Given the description of an element on the screen output the (x, y) to click on. 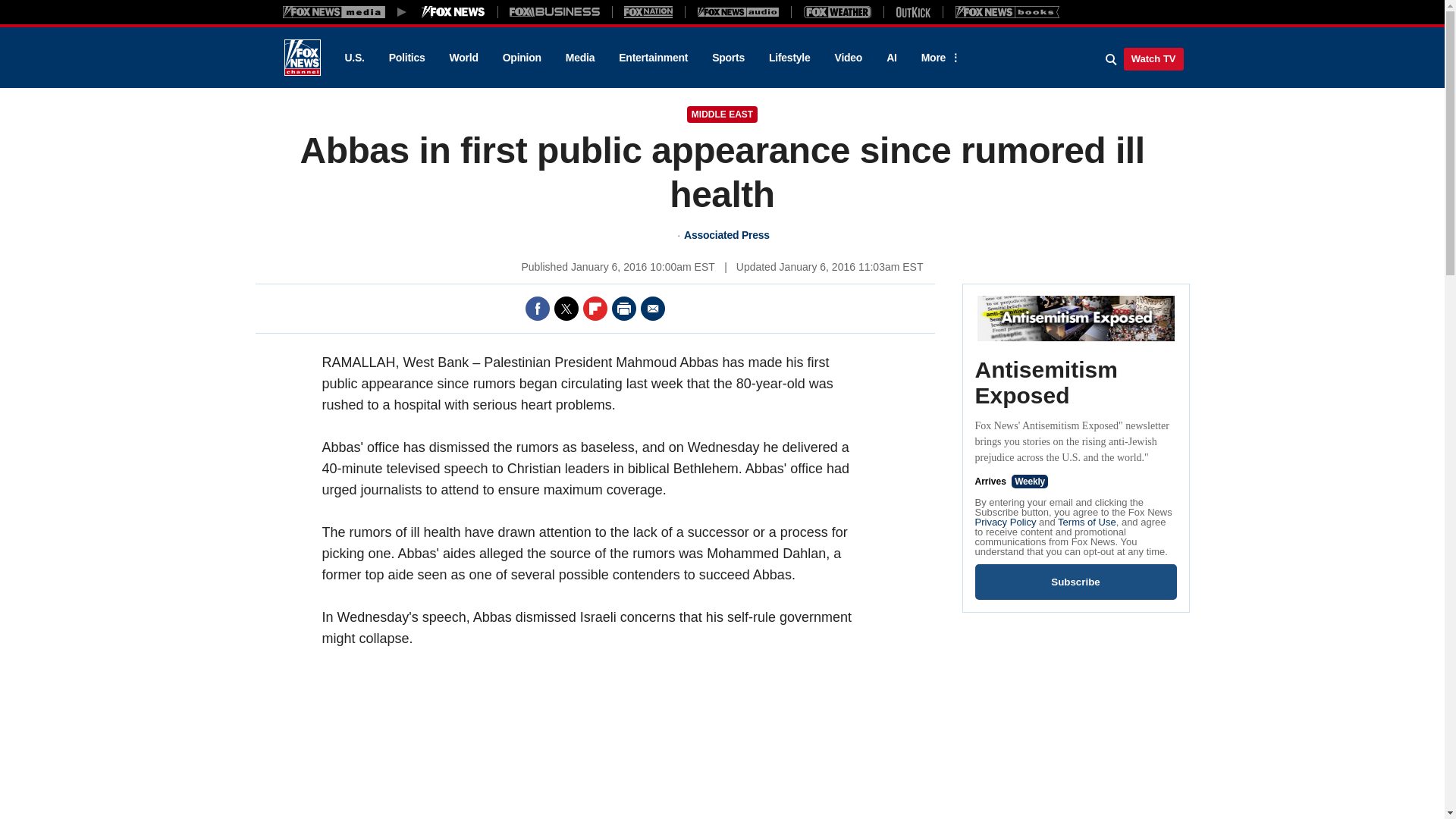
Fox News Audio (737, 11)
AI (891, 57)
Video (848, 57)
U.S. (353, 57)
Outkick (912, 11)
World (464, 57)
Entertainment (653, 57)
Books (1007, 11)
Sports (728, 57)
Media (580, 57)
Opinion (521, 57)
More (938, 57)
Politics (407, 57)
Watch TV (1153, 58)
Fox News (301, 57)
